Given the description of an element on the screen output the (x, y) to click on. 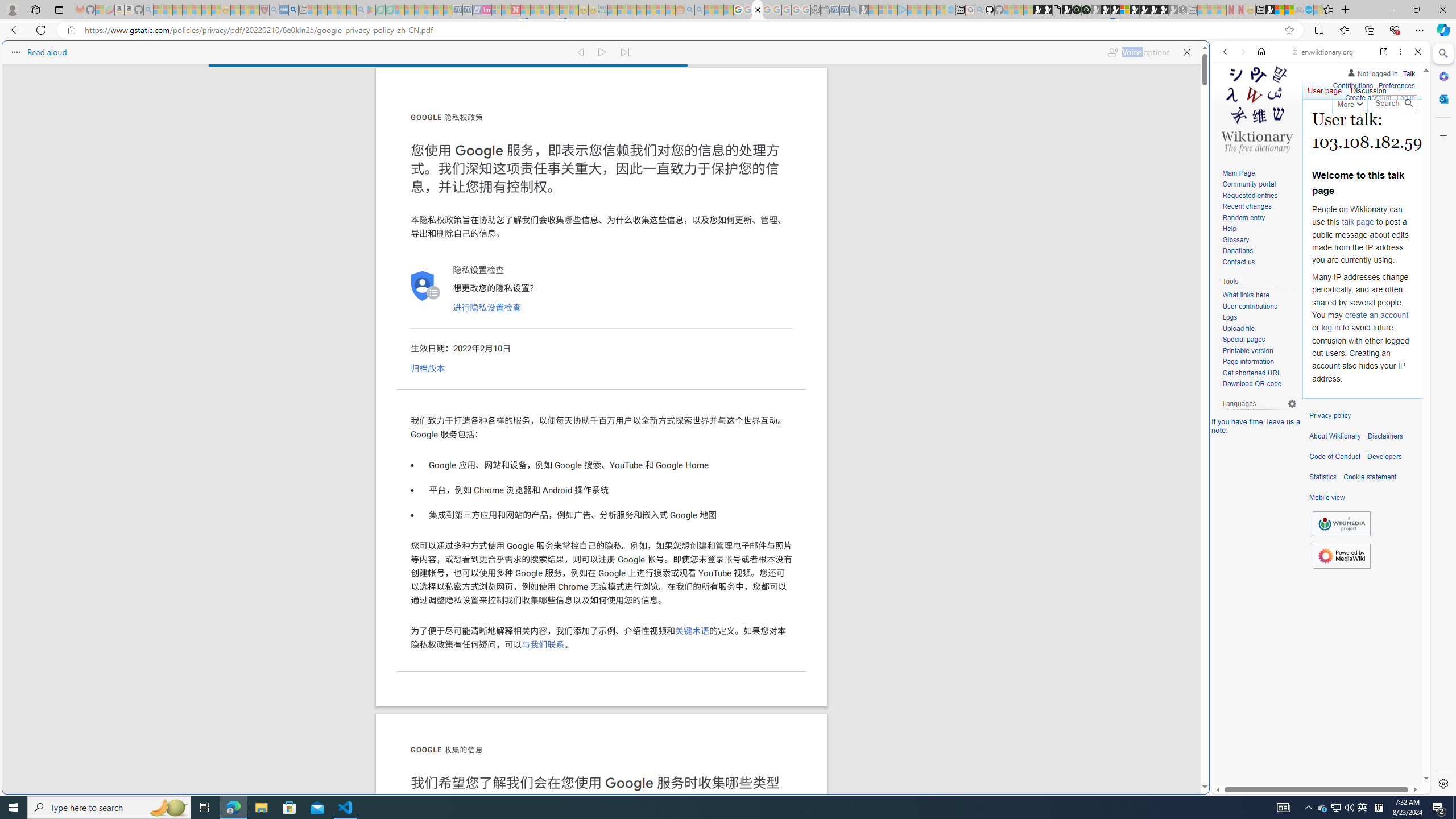
Wiktionary (1315, 380)
Close Customize pane (1442, 135)
Search Filter, VIDEOS (1300, 129)
Preferences (1396, 85)
Close read aloud (1186, 49)
Search Filter, IMAGES (1262, 129)
What links here (1259, 295)
Upload file (1259, 328)
